Given the description of an element on the screen output the (x, y) to click on. 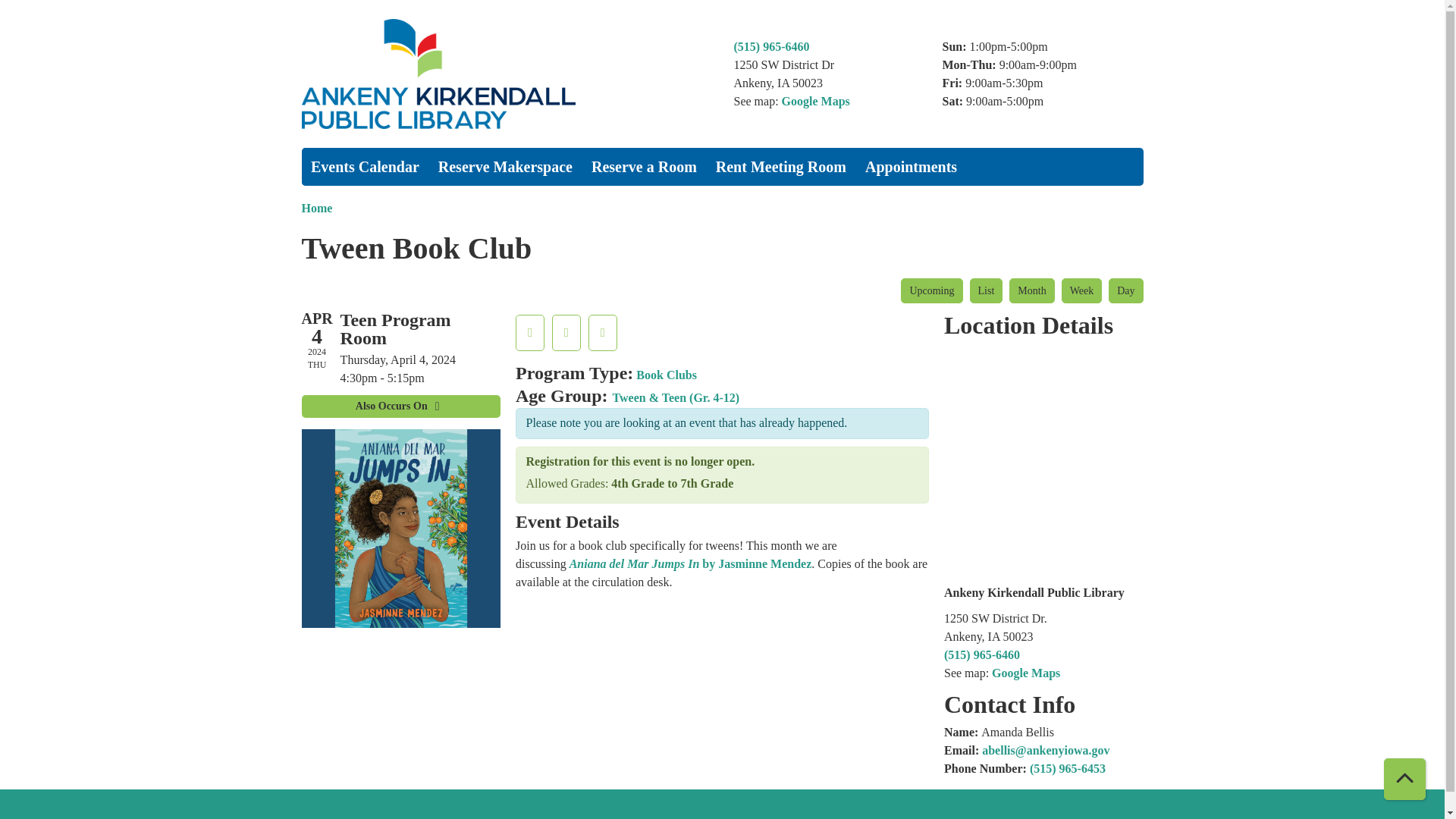
Aniana del Mar Jumps In by Jasminne Mendez (690, 563)
Events Calendar (365, 166)
Google Maps (815, 100)
Upcoming (931, 290)
Month (1031, 290)
Home (317, 207)
Book Clubs (666, 374)
Reserve Makerspace (504, 166)
Rent Meeting Room (781, 166)
Appointments (911, 166)
Day (1125, 290)
Week (1081, 290)
List (986, 290)
Home (506, 73)
